Given the description of an element on the screen output the (x, y) to click on. 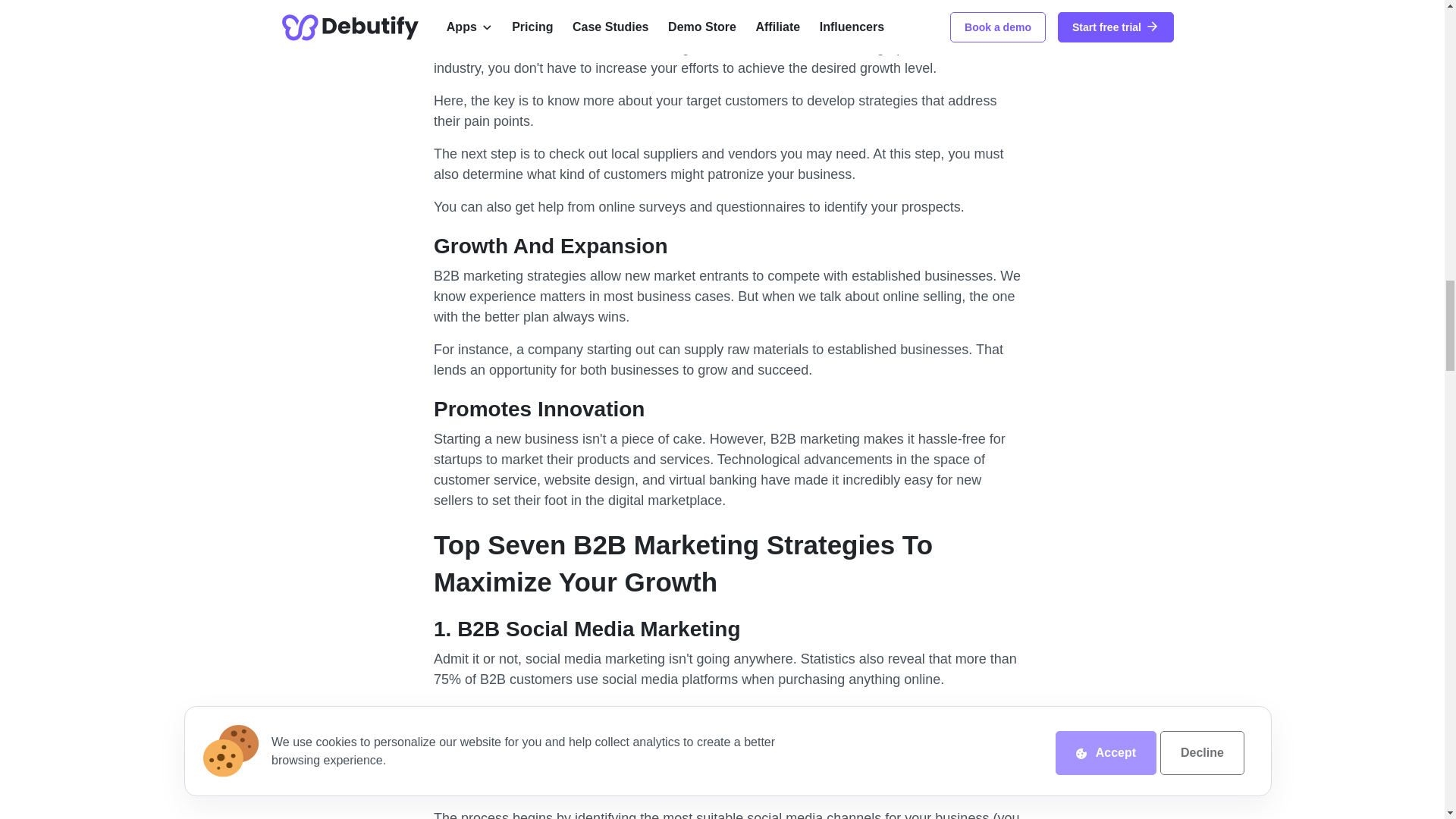
B2B social media marketing (579, 785)
